Given the description of an element on the screen output the (x, y) to click on. 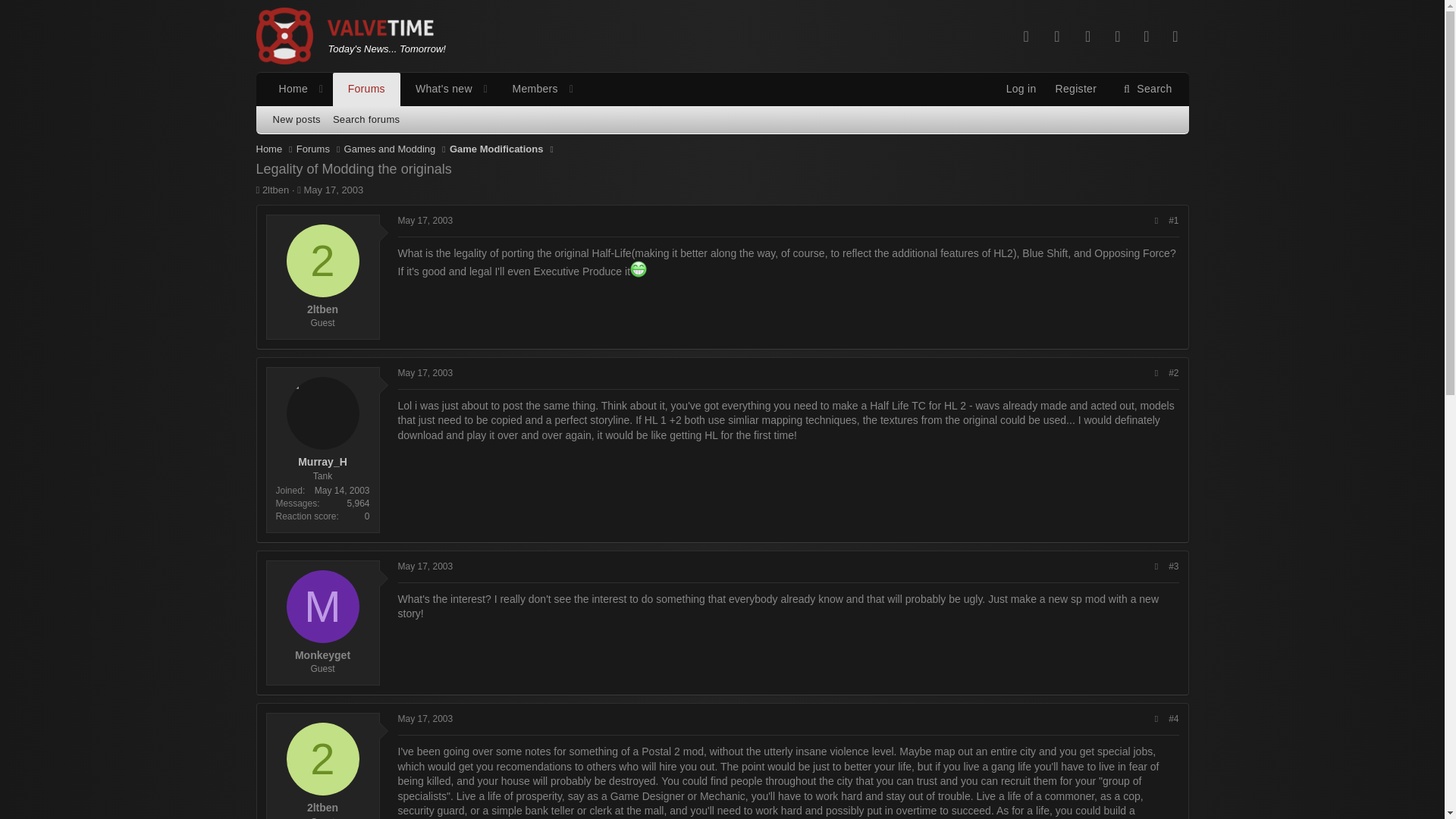
2ltben (423, 89)
Members (322, 758)
Register (423, 106)
Search (527, 89)
What's new (1075, 89)
May 17, 2003 at 2:38 AM (1145, 89)
May 17, 2003 at 7:45 PM (437, 89)
youtube (424, 220)
Big Grin    :D (424, 718)
Log in (1088, 36)
Twitch (638, 269)
2ltben (722, 136)
